Given the description of an element on the screen output the (x, y) to click on. 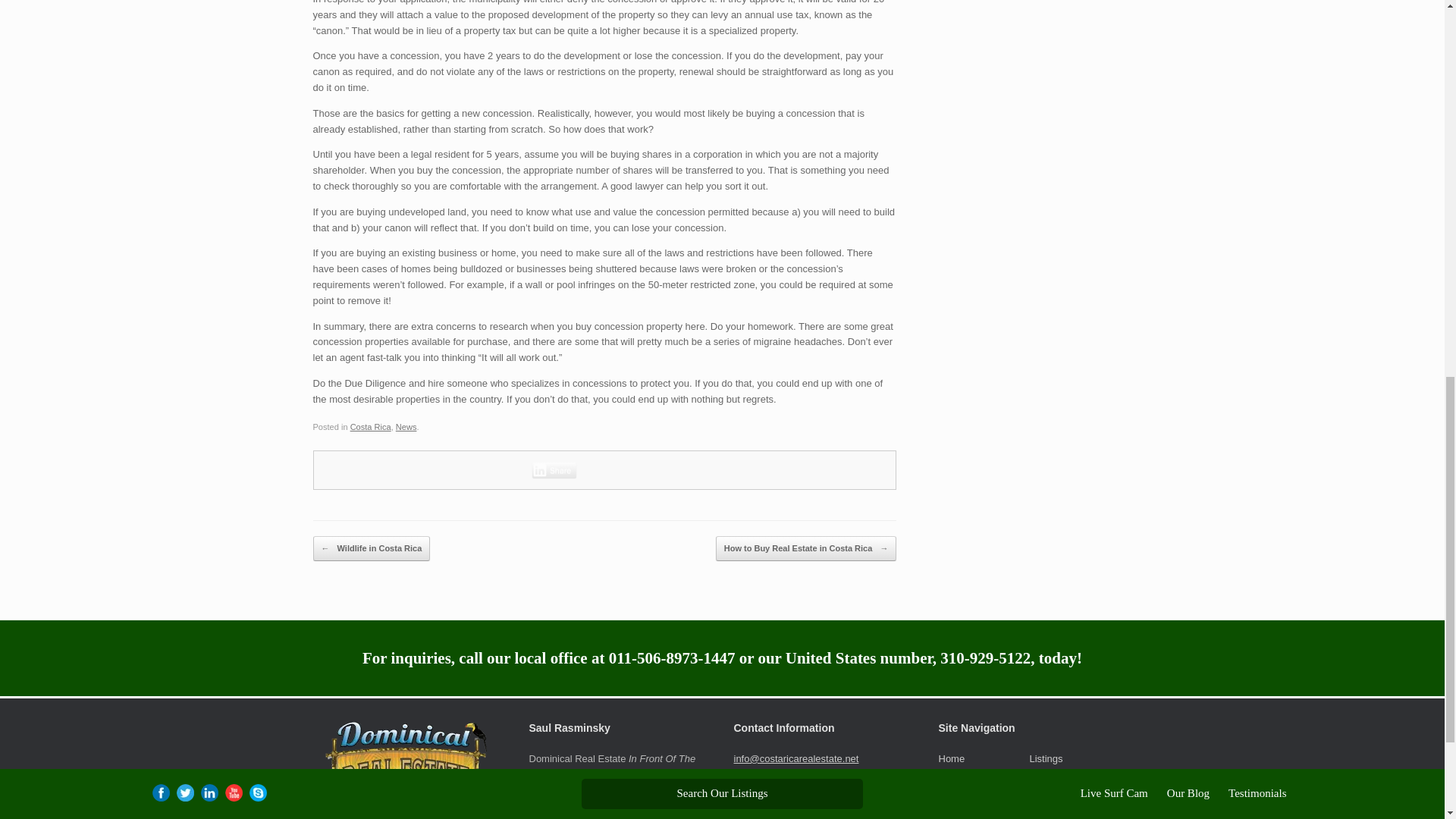
Share (554, 469)
News (406, 426)
Costa Rica (370, 426)
